Given the description of an element on the screen output the (x, y) to click on. 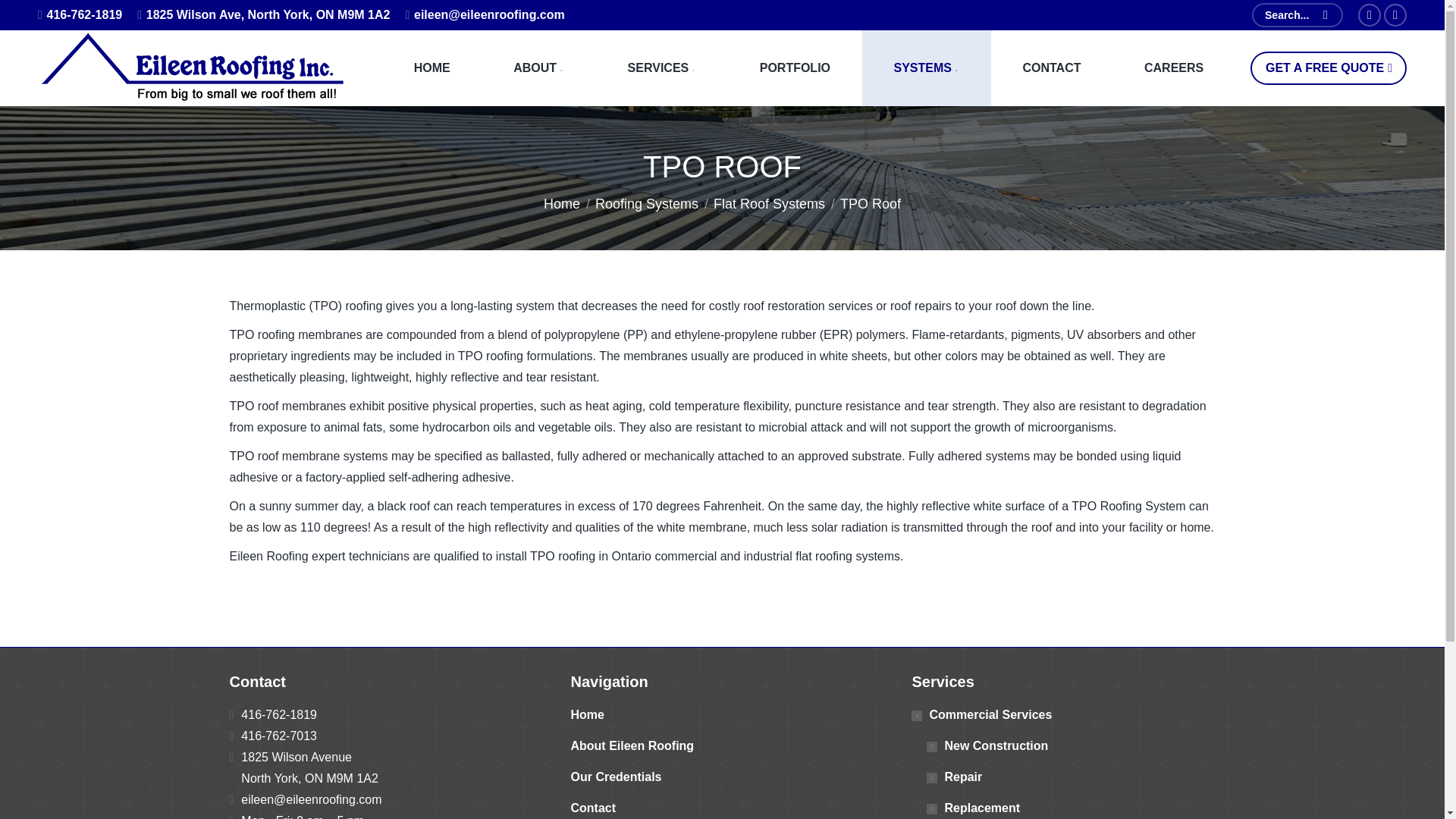
416-762-1819 (79, 14)
ABOUT (538, 68)
Go! (32, 15)
HOME (431, 68)
PORTFOLIO (794, 68)
Yelp page opens in new window (1395, 15)
Yelp page opens in new window (1395, 15)
SYSTEMS (926, 68)
Facebook page opens in new window (1369, 15)
Facebook page opens in new window (1369, 15)
Search form (1297, 15)
SERVICES (661, 68)
1825 Wilson Ave, North York, ON M9M 1A2 (263, 14)
